Given the description of an element on the screen output the (x, y) to click on. 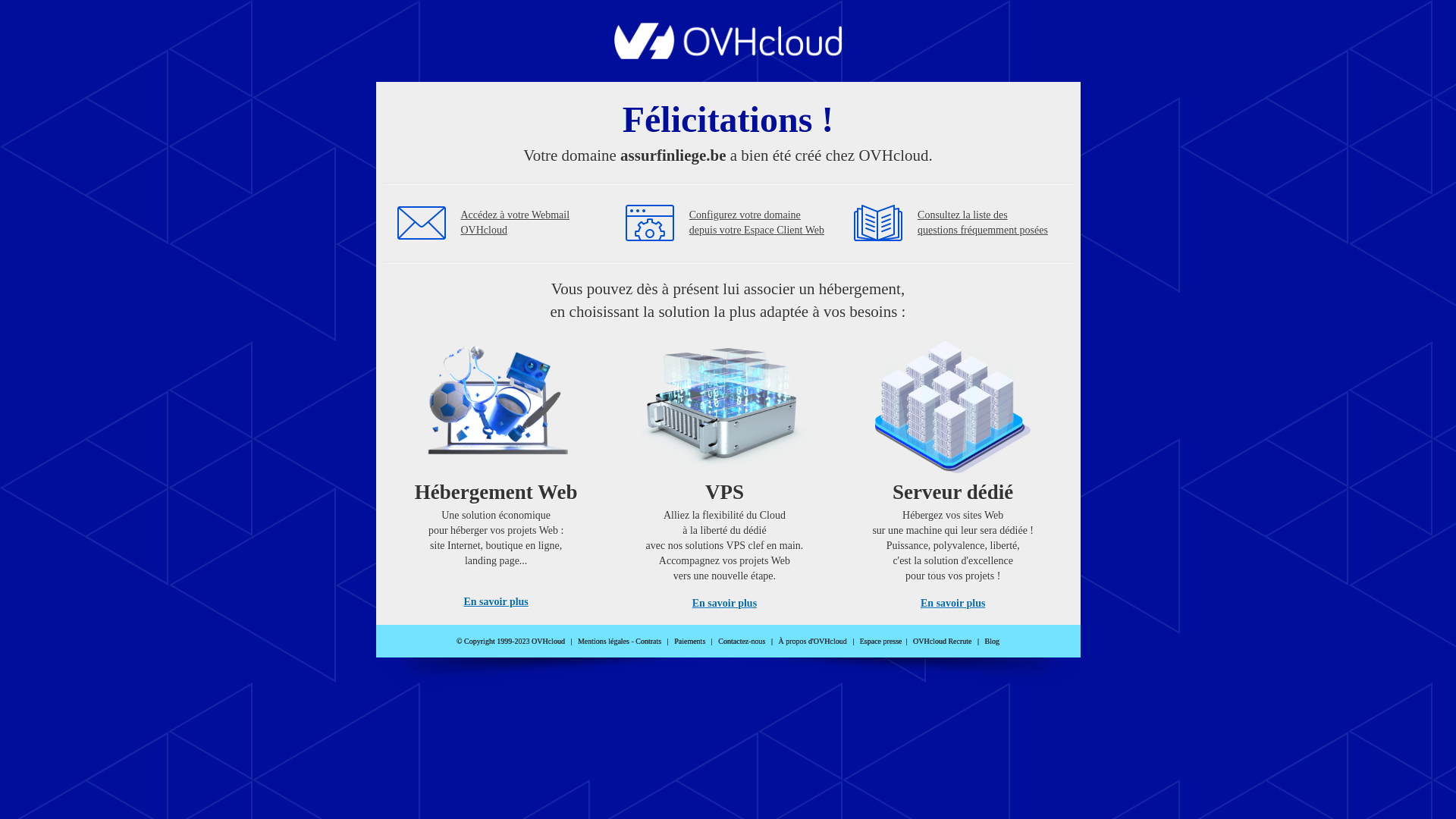
OVHcloud Recrute Element type: text (942, 641)
Contactez-nous Element type: text (741, 641)
En savoir plus Element type: text (724, 602)
VPS Element type: hover (724, 469)
Blog Element type: text (992, 641)
Paiements Element type: text (689, 641)
Configurez votre domaine
depuis votre Espace Client Web Element type: text (756, 222)
OVHcloud Element type: hover (727, 54)
En savoir plus Element type: text (952, 602)
Espace presse Element type: text (880, 641)
En savoir plus Element type: text (495, 601)
